Given the description of an element on the screen output the (x, y) to click on. 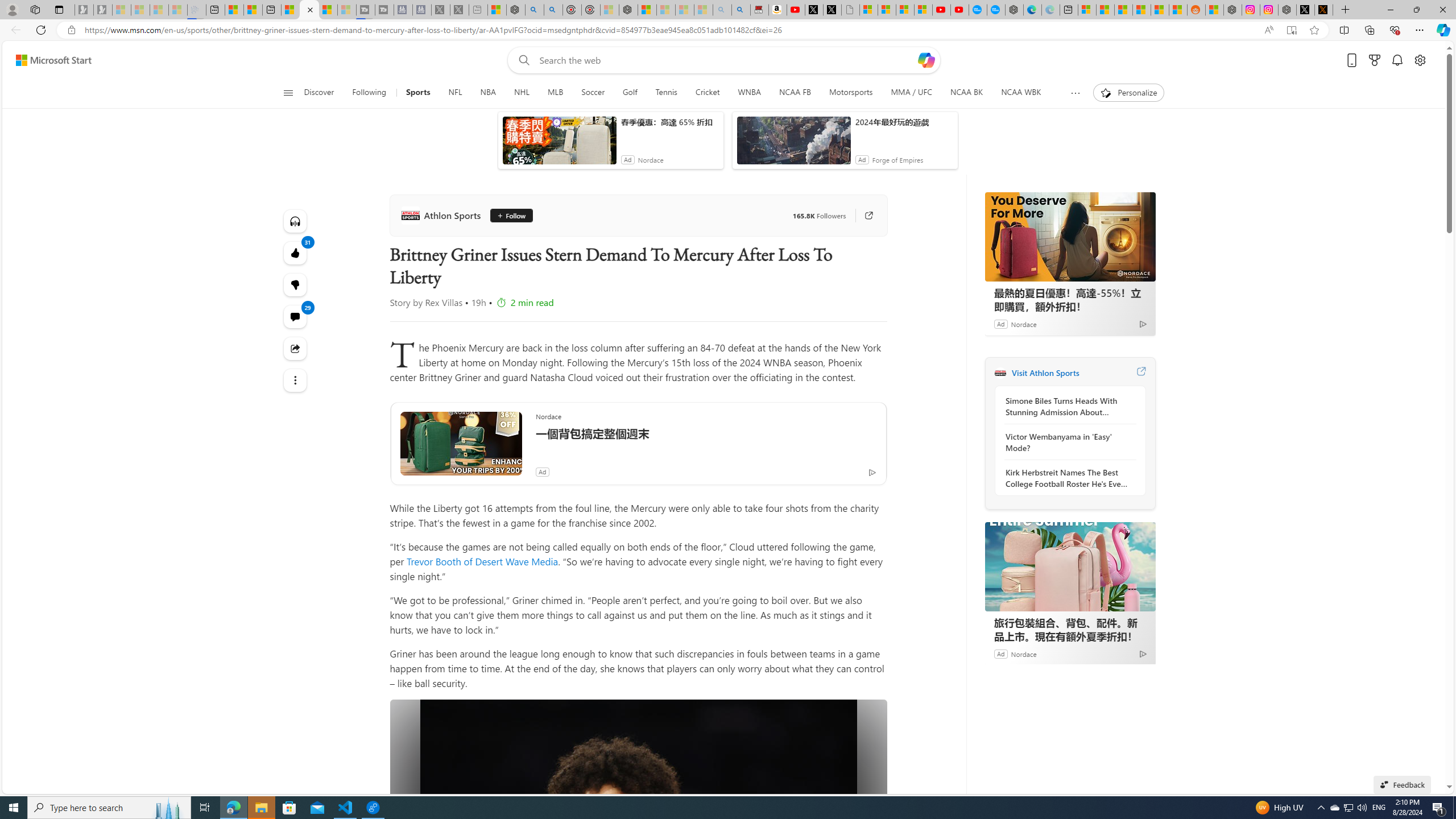
Motorsports (850, 92)
Browser essentials (1394, 29)
NFL (455, 92)
Nordace - Summer Adventures 2024 (1287, 9)
Address and search bar (669, 29)
Open Copilot (926, 59)
Ad Choice (1142, 653)
